Given the description of an element on the screen output the (x, y) to click on. 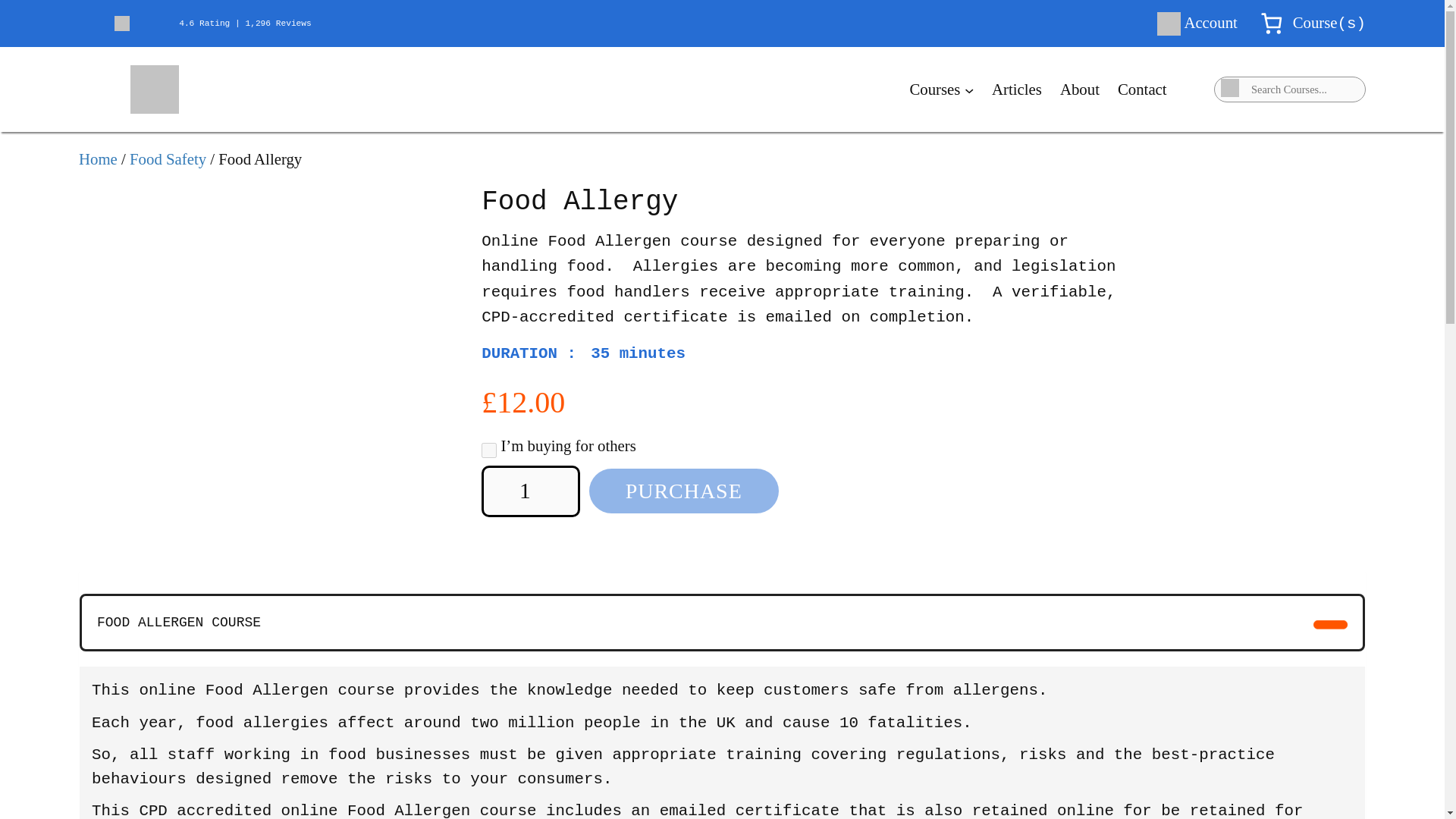
Contact (1142, 88)
on (488, 450)
Courses (933, 88)
Articles (1016, 88)
Course (1315, 22)
Account (1209, 22)
1 (530, 491)
About (1079, 88)
